Given the description of an element on the screen output the (x, y) to click on. 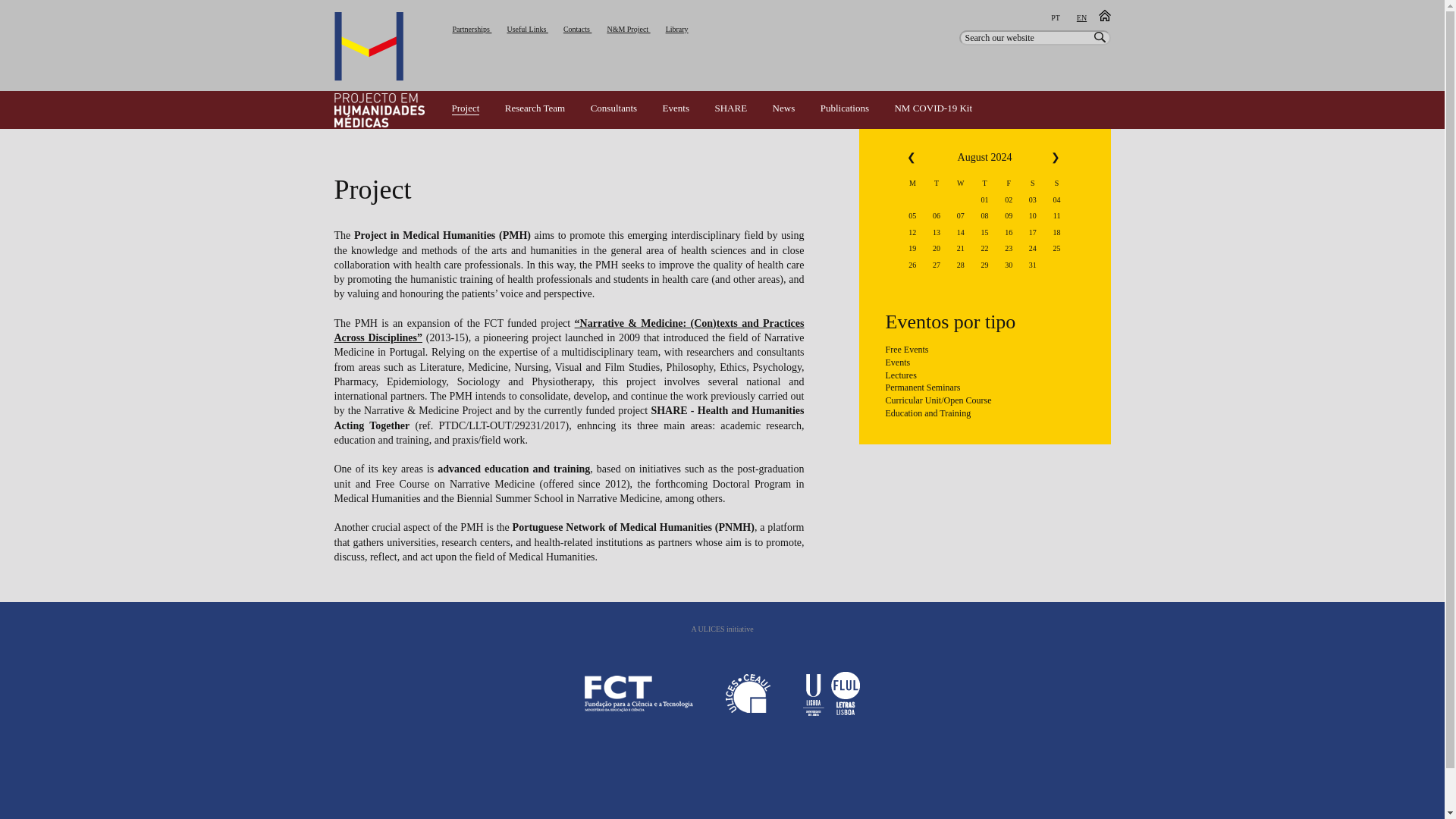
Permanent Seminars (984, 389)
CEAUL (747, 693)
Research Team (534, 107)
Project (465, 108)
Publications (845, 107)
EN (1081, 23)
Events (675, 107)
Free Events (984, 350)
Partnerships (471, 29)
Consultants (614, 107)
